Given the description of an element on the screen output the (x, y) to click on. 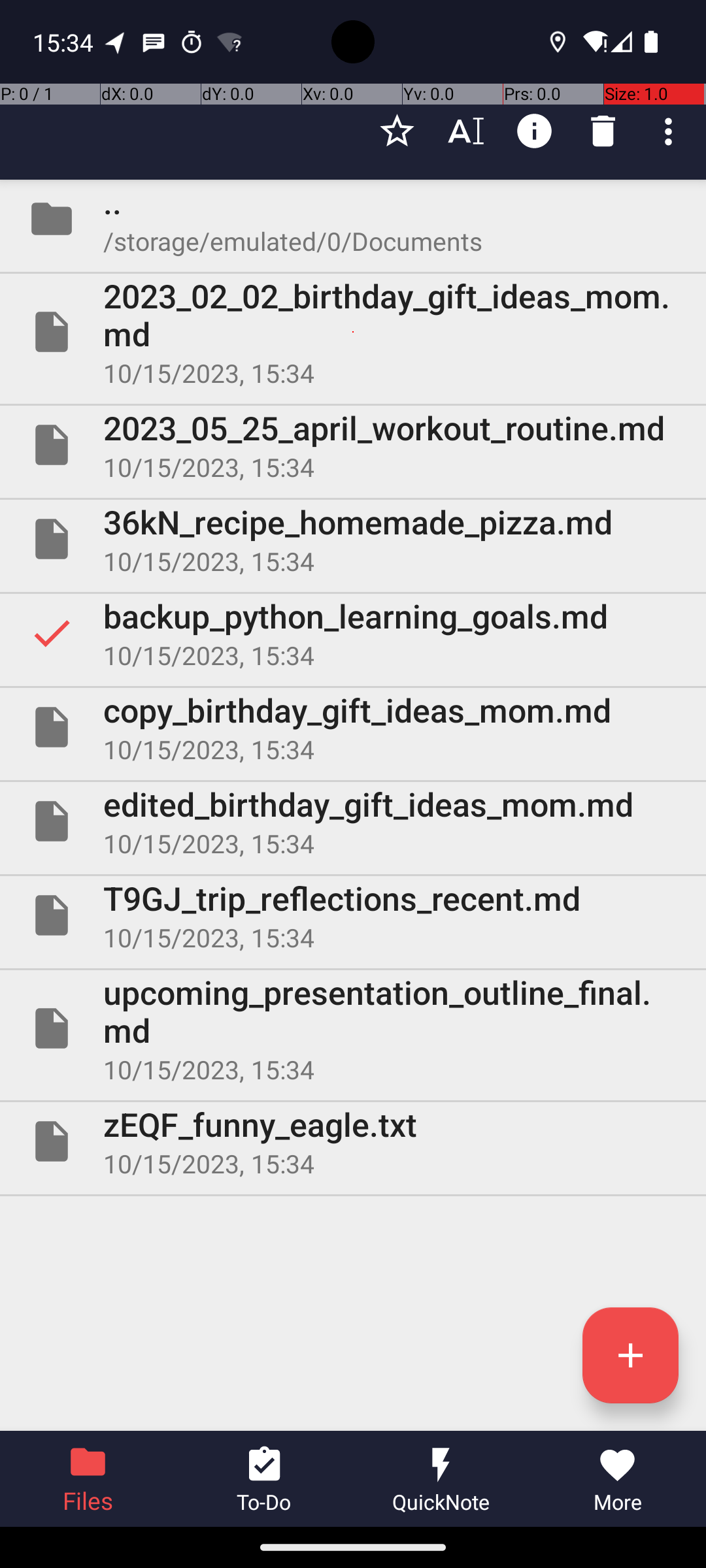
Favourite Element type: android.widget.TextView (396, 131)
File 2023_02_02_birthday_gift_ideas_mom.md 10/15/2023, 15:34 Element type: android.widget.LinearLayout (353, 331)
File 2023_05_25_april_workout_routine.md  Element type: android.widget.LinearLayout (353, 444)
File 36kN_recipe_homemade_pizza.md  Element type: android.widget.LinearLayout (353, 538)
Selected backup_python_learning_goals.md 10/15/2023, 15:34 Element type: android.widget.LinearLayout (353, 632)
File copy_birthday_gift_ideas_mom.md  Element type: android.widget.LinearLayout (353, 726)
File edited_birthday_gift_ideas_mom.md  Element type: android.widget.LinearLayout (353, 821)
File T9GJ_trip_reflections_recent.md  Element type: android.widget.LinearLayout (353, 915)
File upcoming_presentation_outline_final.md  Element type: android.widget.LinearLayout (353, 1028)
File zEQF_funny_eagle.txt  Element type: android.widget.LinearLayout (353, 1141)
